Given the description of an element on the screen output the (x, y) to click on. 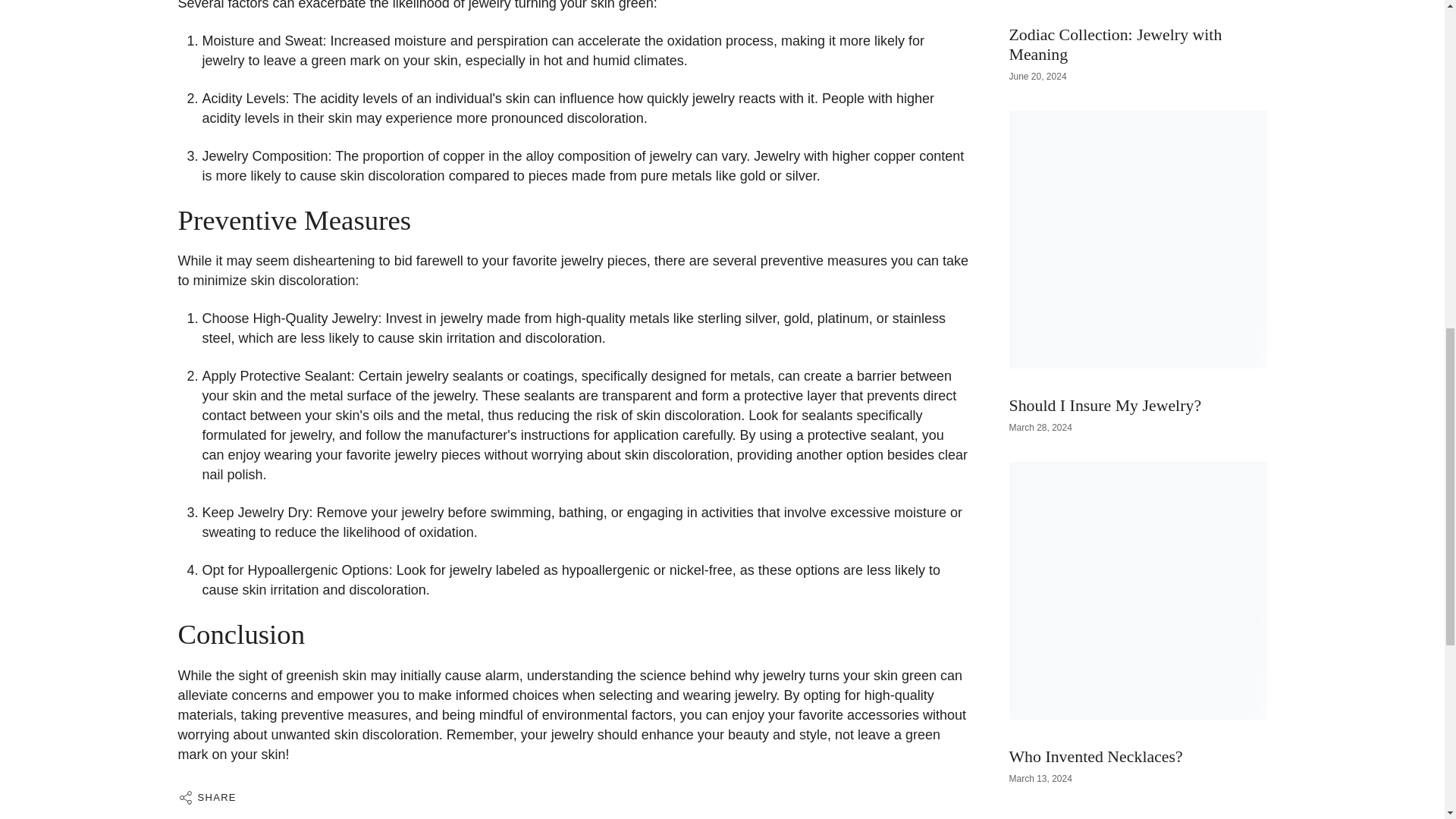
Should I Insure My Jewelry? (1105, 304)
Who Invented Necklaces? (1095, 656)
